Given the description of an element on the screen output the (x, y) to click on. 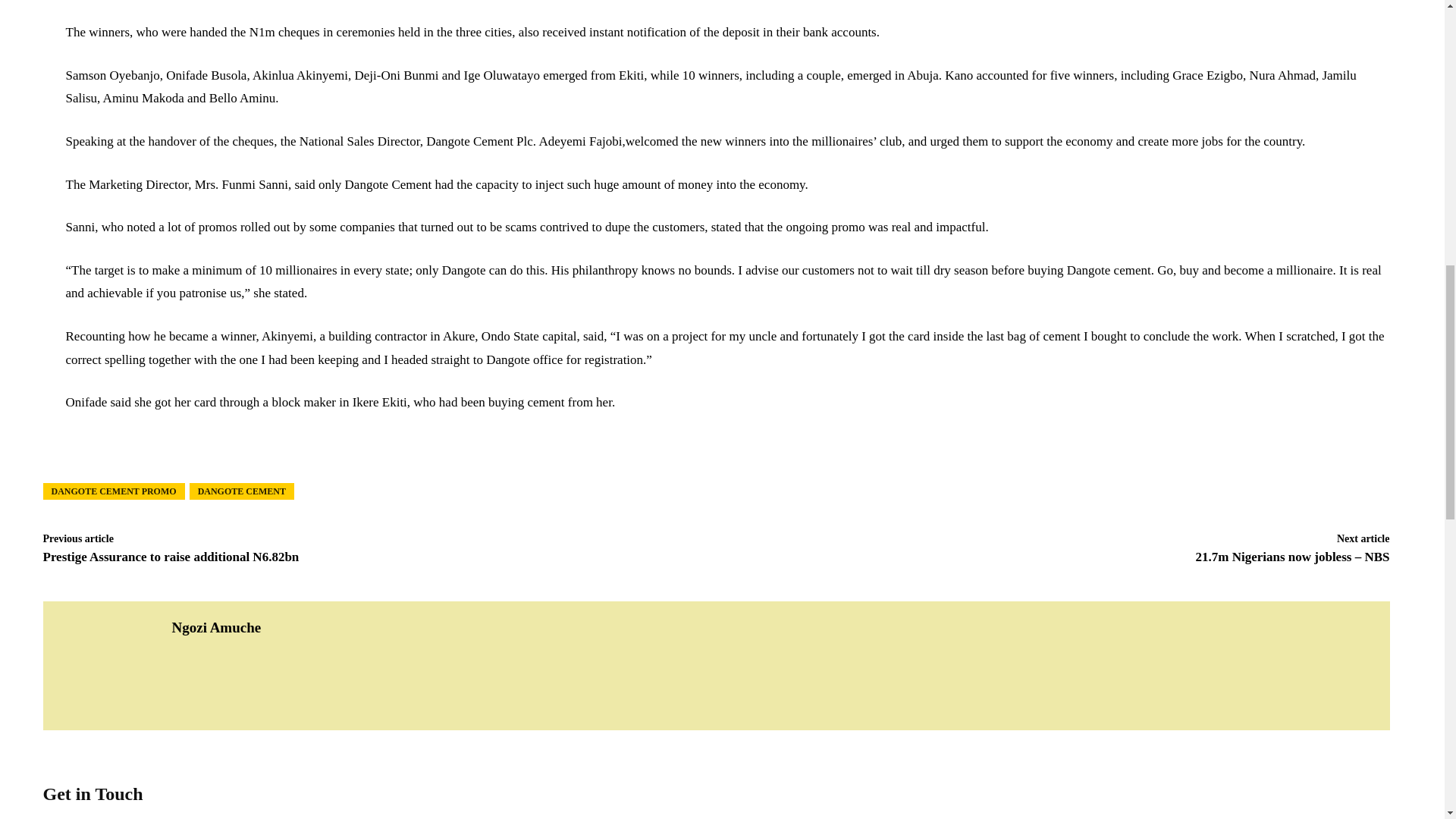
DANGOTE CEMENT PROMO (113, 491)
